Given the description of an element on the screen output the (x, y) to click on. 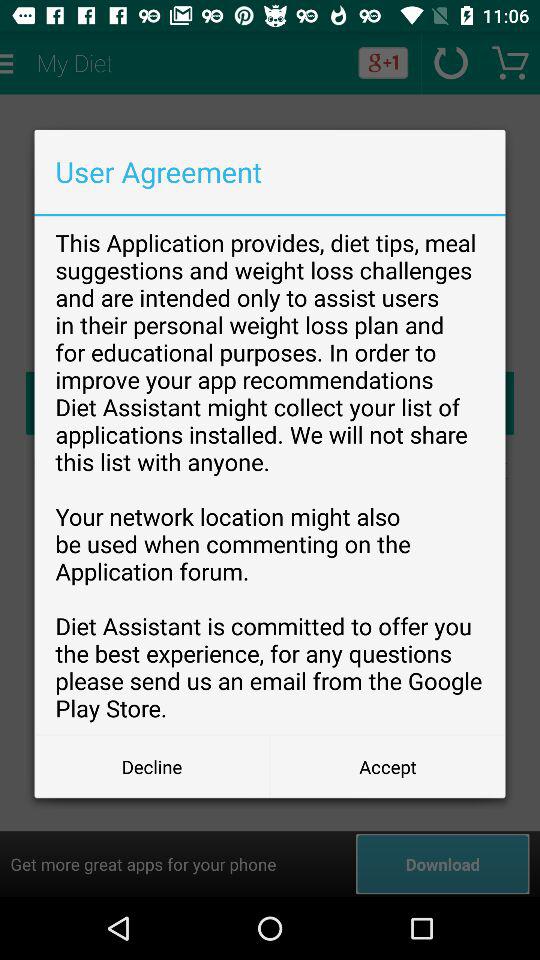
choose app below this application provides (387, 766)
